Given the description of an element on the screen output the (x, y) to click on. 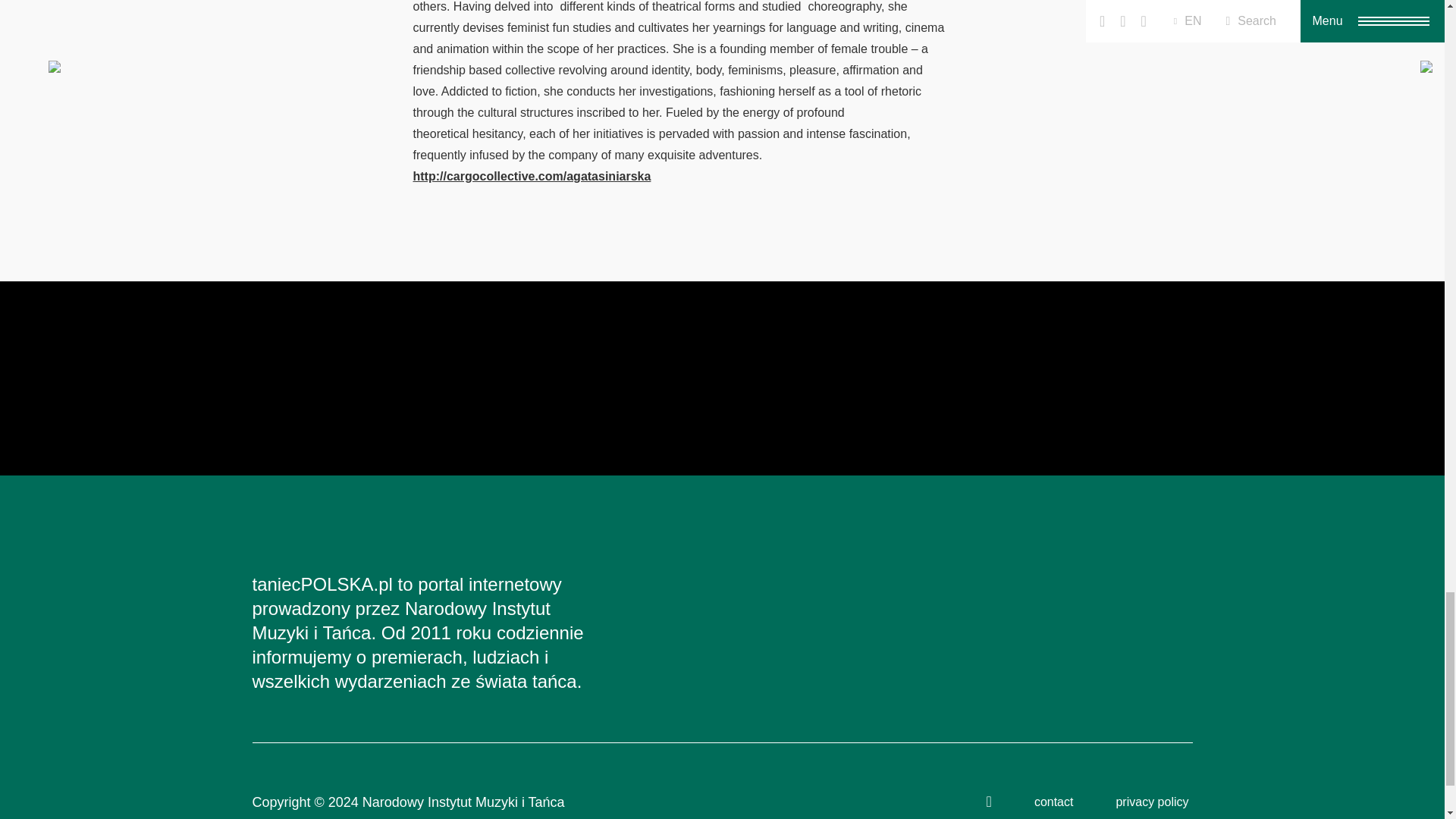
privacy policy (1151, 801)
contact (1053, 801)
